Given the description of an element on the screen output the (x, y) to click on. 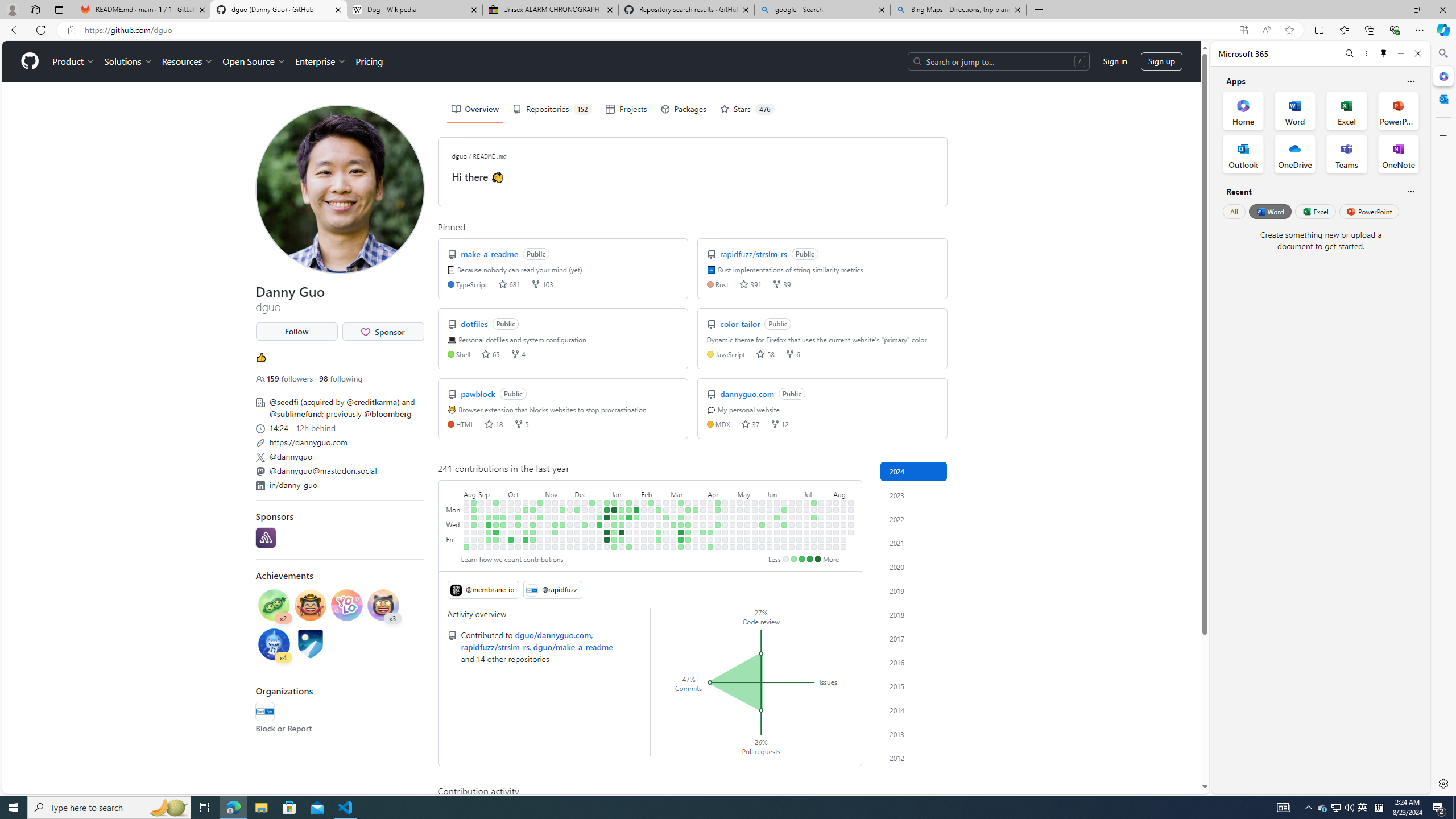
No contributions on November 4th. (540, 546)
No contributions on December 25th. (599, 509)
10 contributions on January 5th. (607, 539)
No contributions on June 10th. (777, 509)
No contributions on August 31st. (473, 531)
No contributions on May 30th. (761, 531)
1 contribution on September 12th. (489, 517)
No contributions on October 5th. (510, 531)
No contributions on October 12th. (518, 531)
14:24 - 12h behind (338, 426)
No contributions on December 5th. (577, 517)
No contributions on December 20th. (592, 524)
forks 6 (792, 353)
